Given the description of an element on the screen output the (x, y) to click on. 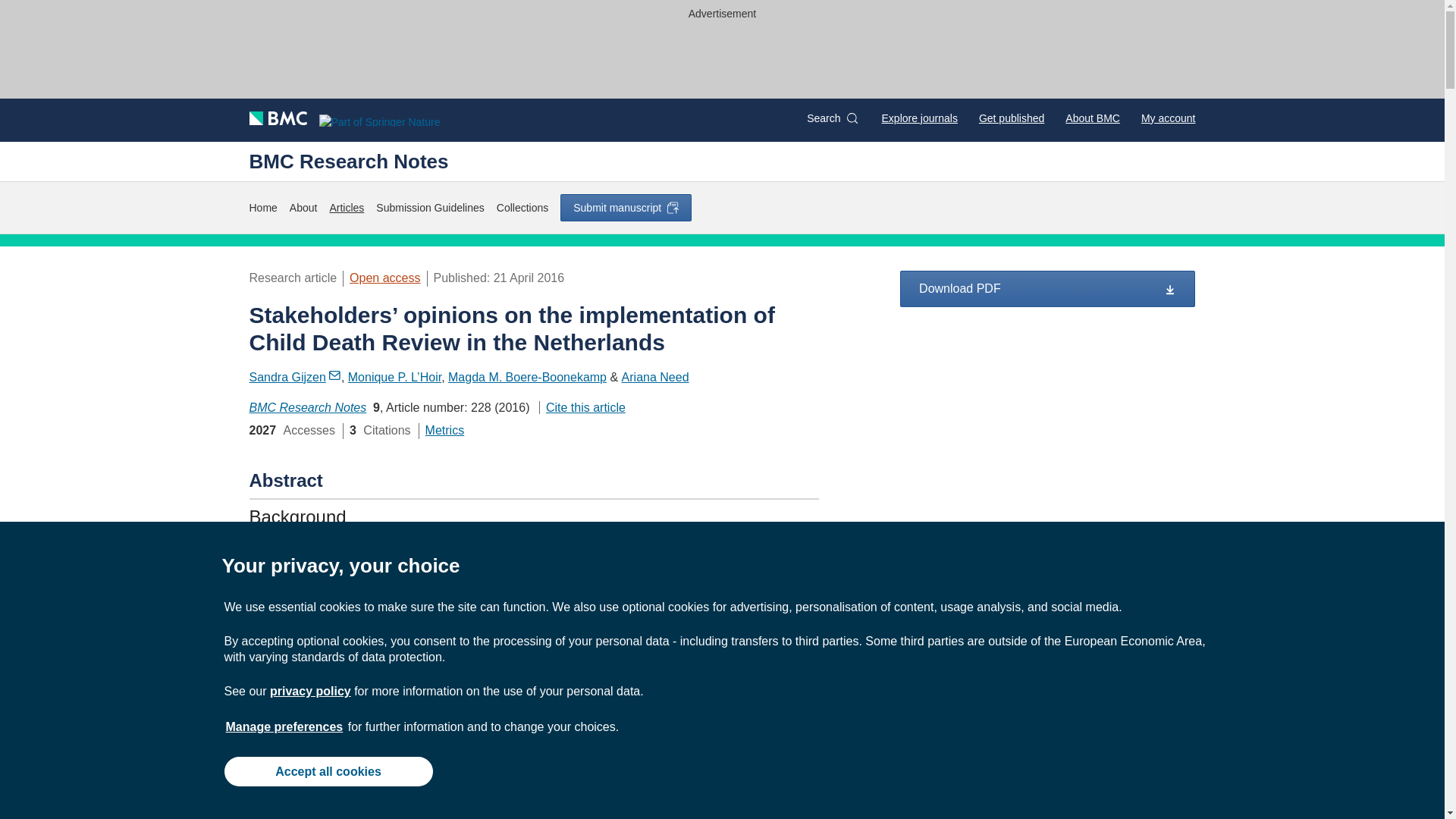
Submit manuscript (625, 207)
Metrics (444, 430)
Open access (384, 277)
About (303, 208)
Submission Guidelines (429, 208)
Sandra Gijzen (294, 377)
Ariana Need (654, 377)
BMC Research Notes (348, 160)
privacy policy (309, 690)
My account (1168, 118)
